Given the description of an element on the screen output the (x, y) to click on. 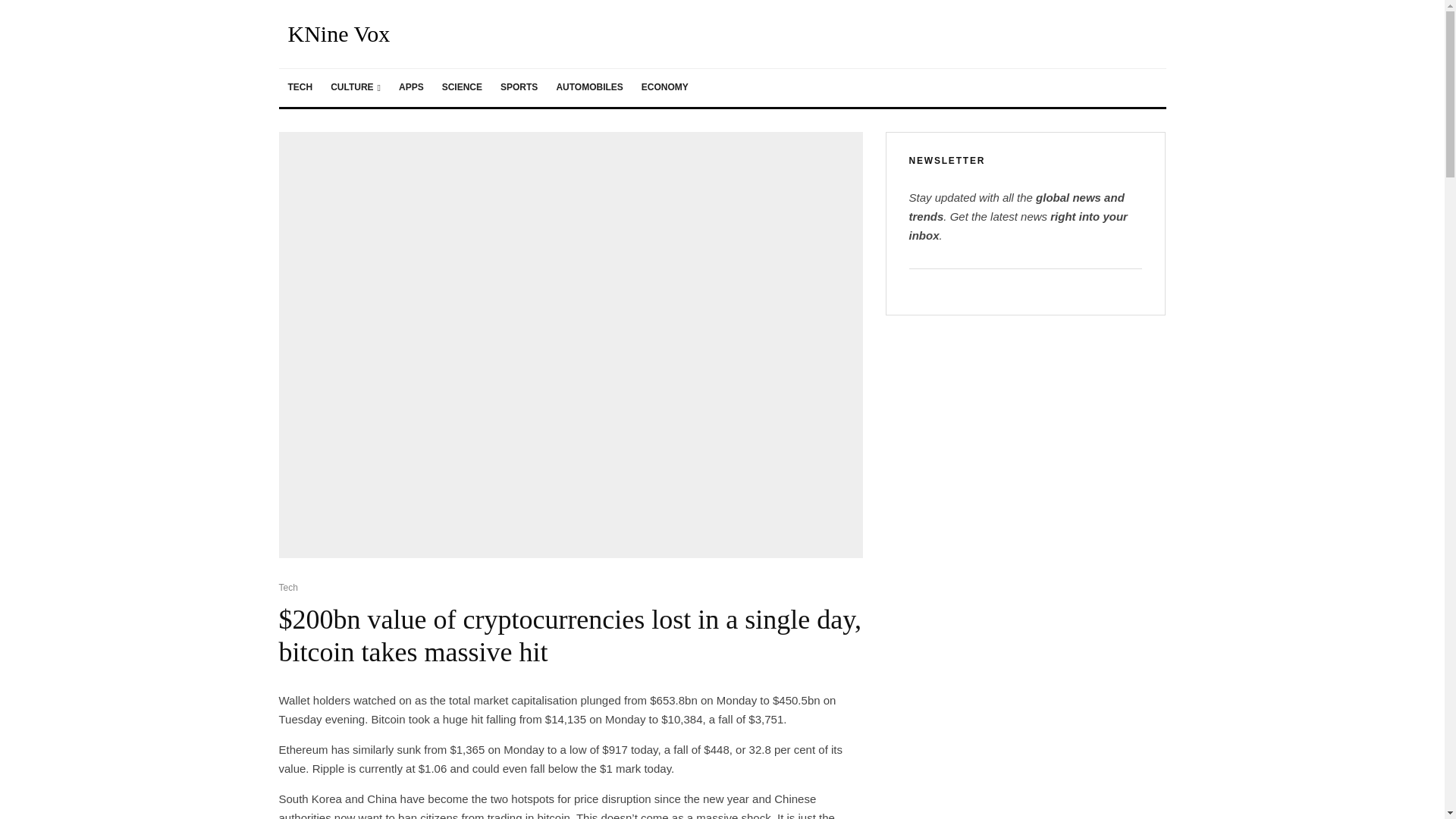
SCIENCE (462, 87)
CULTURE (355, 87)
TECH (300, 87)
KNine Vox (339, 33)
APPS (411, 87)
